Given the description of an element on the screen output the (x, y) to click on. 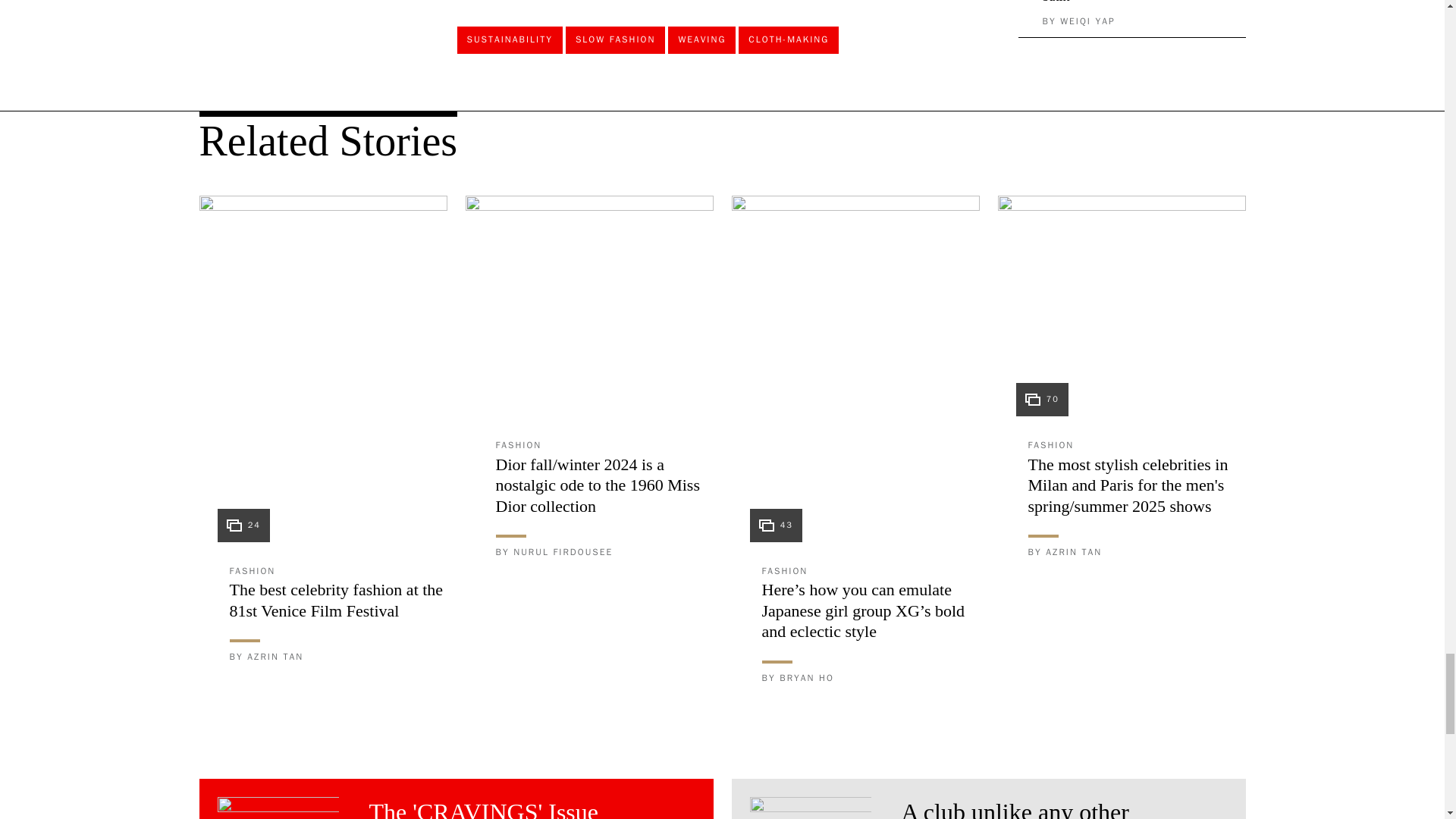
WEAVING (701, 40)
SLOW FASHION (615, 40)
SUSTAINABILITY (509, 40)
CLOTH-MAKING (788, 40)
